Given the description of an element on the screen output the (x, y) to click on. 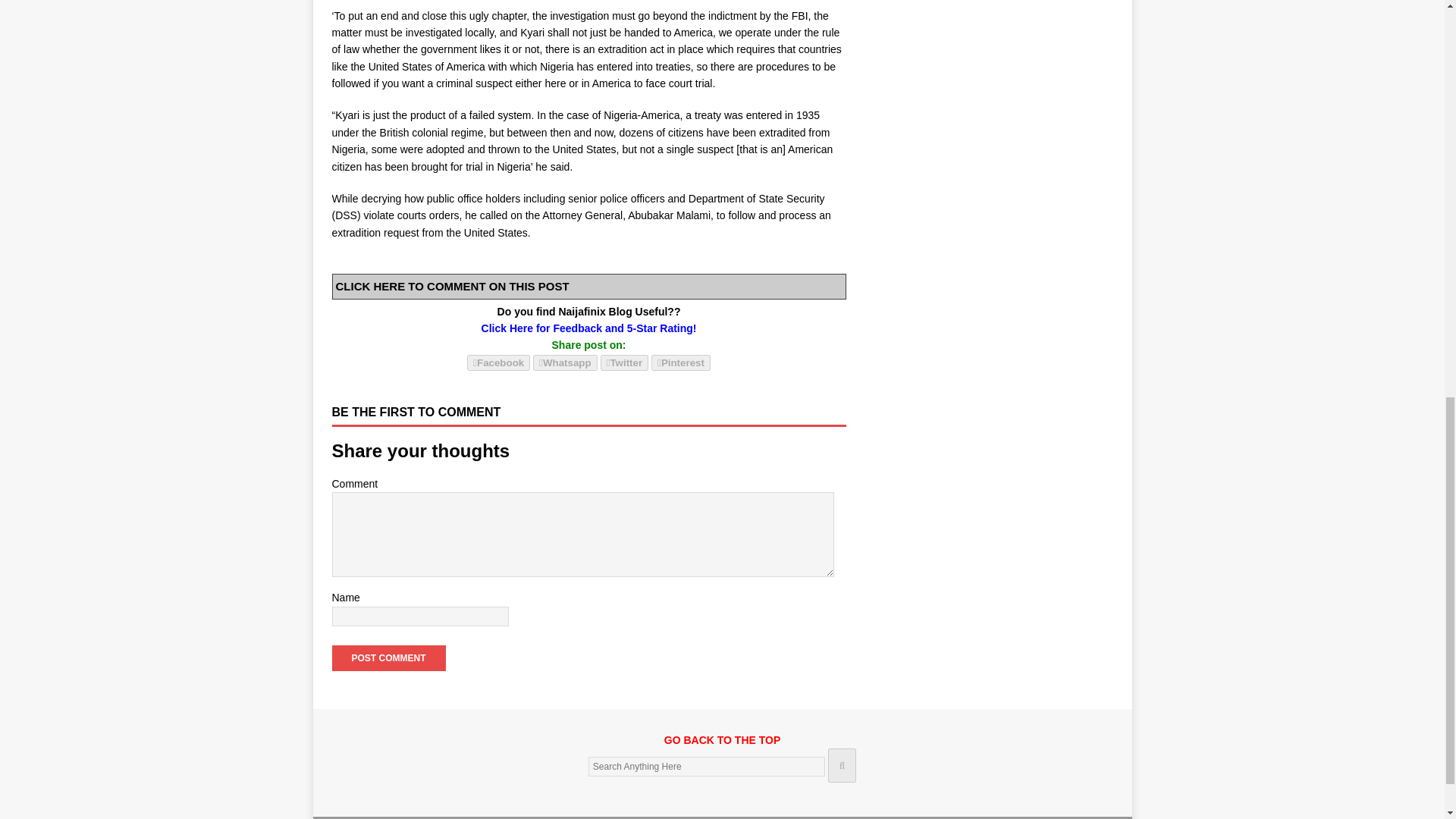
Pinterest (680, 362)
Post Comment (388, 657)
Post Comment (388, 657)
Click Here for Feedback and 5-Star Rating! (589, 328)
CLICK HERE TO COMMENT ON THIS POST (451, 286)
Facebook (498, 362)
Facebook (498, 362)
Whatsapp (564, 362)
Twitter (624, 362)
GO BACK TO THE TOP (722, 747)
